Given the description of an element on the screen output the (x, y) to click on. 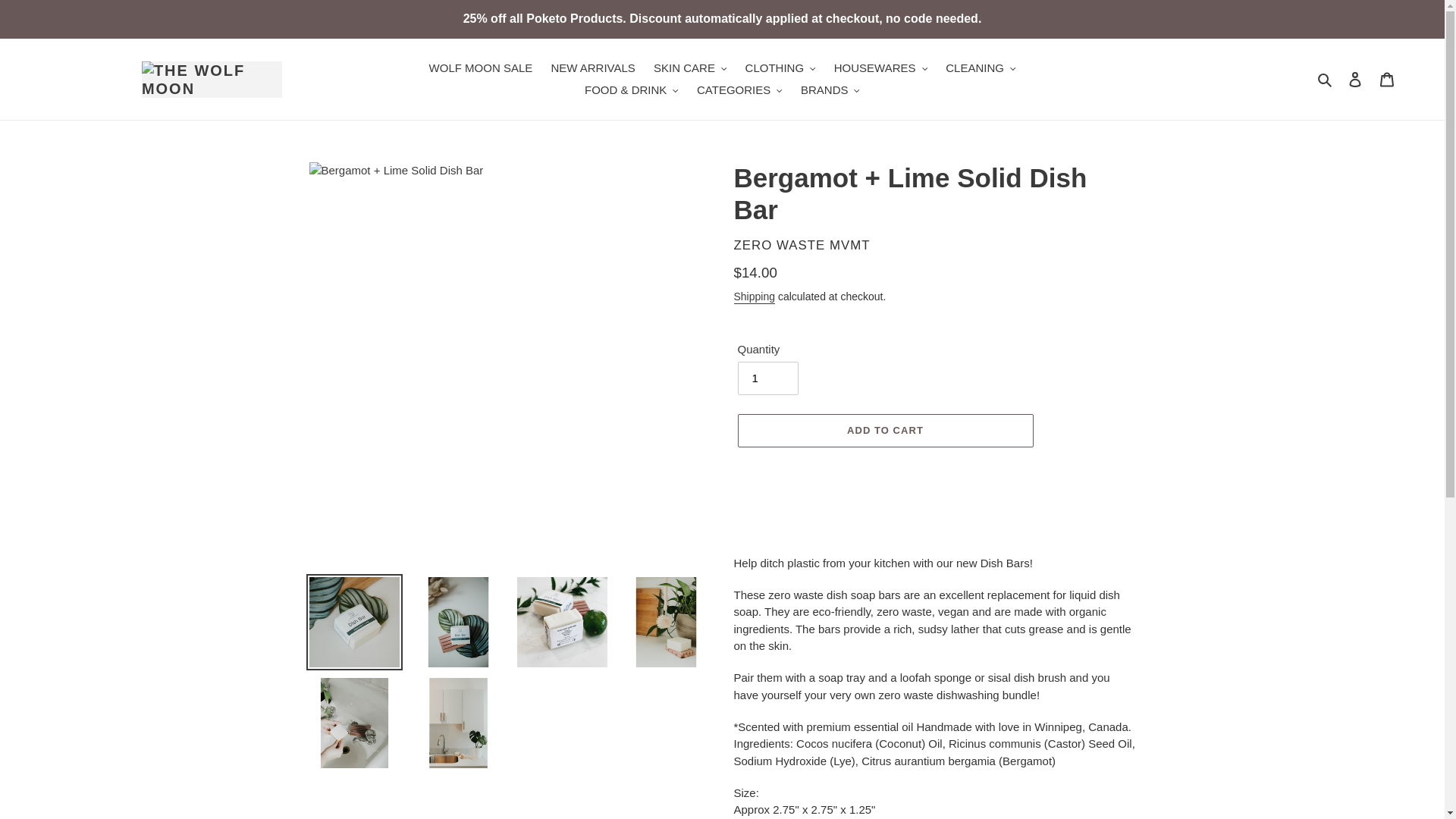
HOUSEWARES (880, 68)
CLEANING (980, 68)
WOLF MOON SALE (481, 68)
1 (766, 377)
CLOTHING (781, 68)
SKIN CARE (689, 68)
NEW ARRIVALS (592, 68)
